Given the description of an element on the screen output the (x, y) to click on. 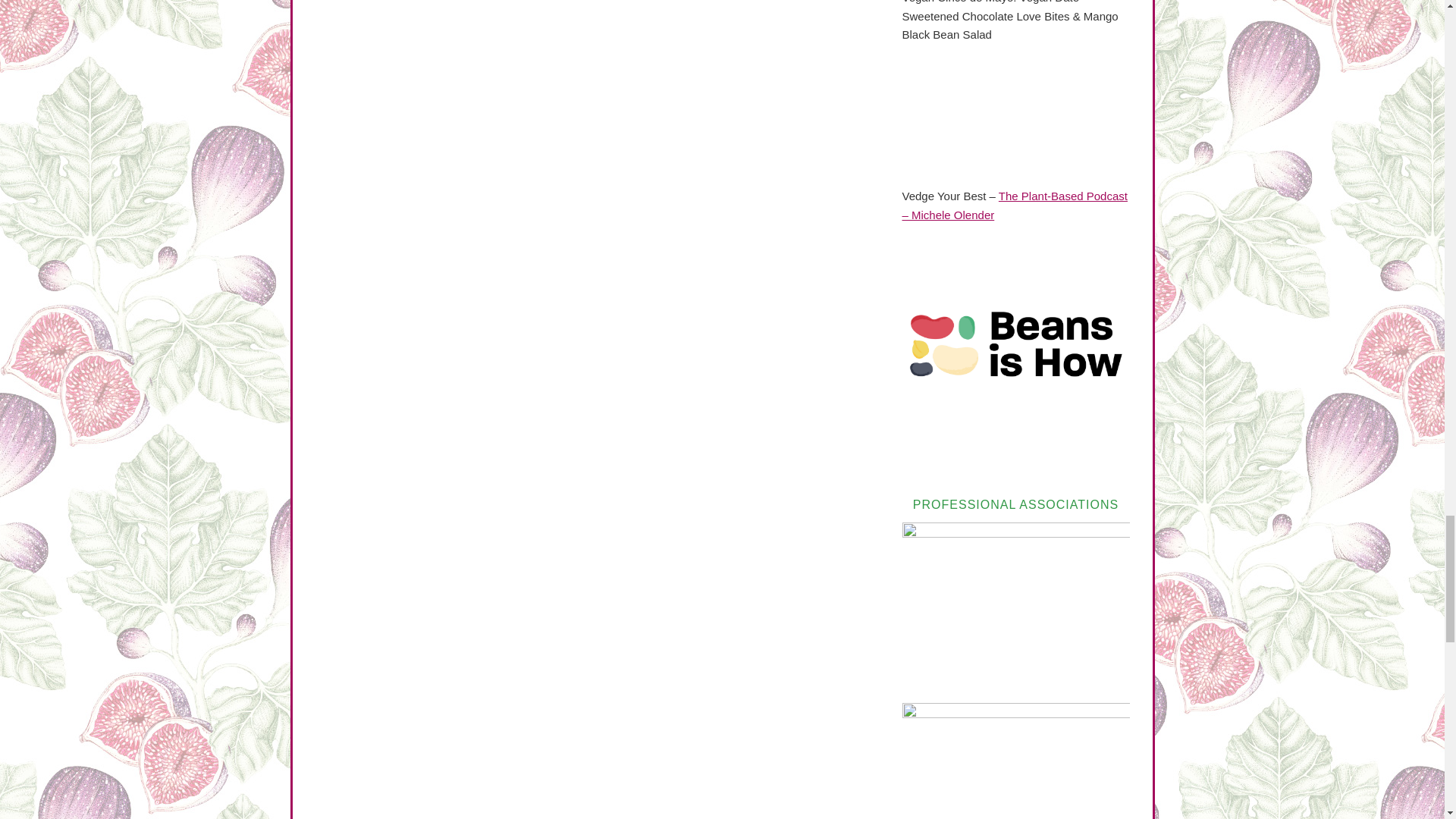
YouTube player (1015, 120)
